Given the description of an element on the screen output the (x, y) to click on. 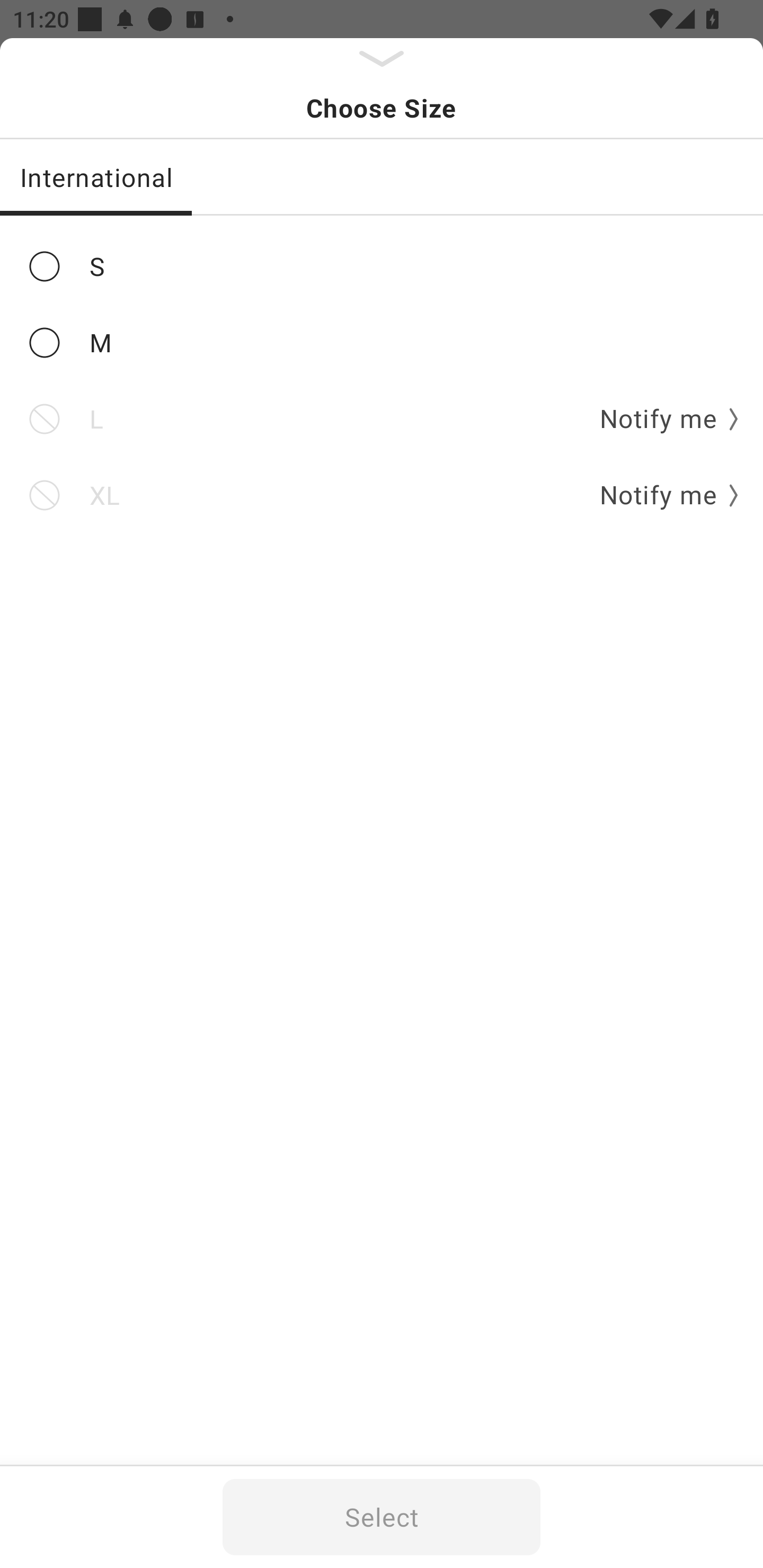
S (381, 266)
M (381, 342)
Notify me (661, 419)
Notify me (661, 495)
Select (381, 1516)
